Given the description of an element on the screen output the (x, y) to click on. 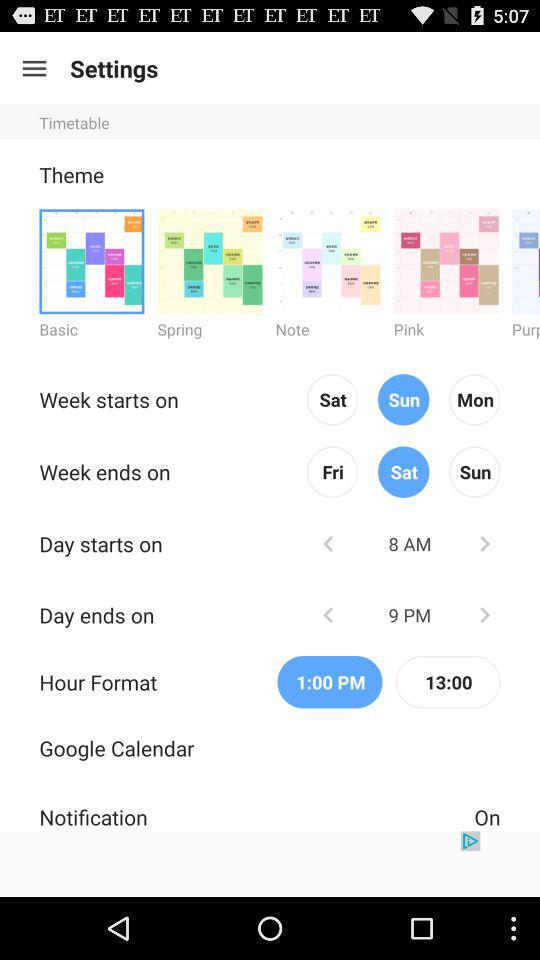
chose purple theme (525, 260)
